Given the description of an element on the screen output the (x, y) to click on. 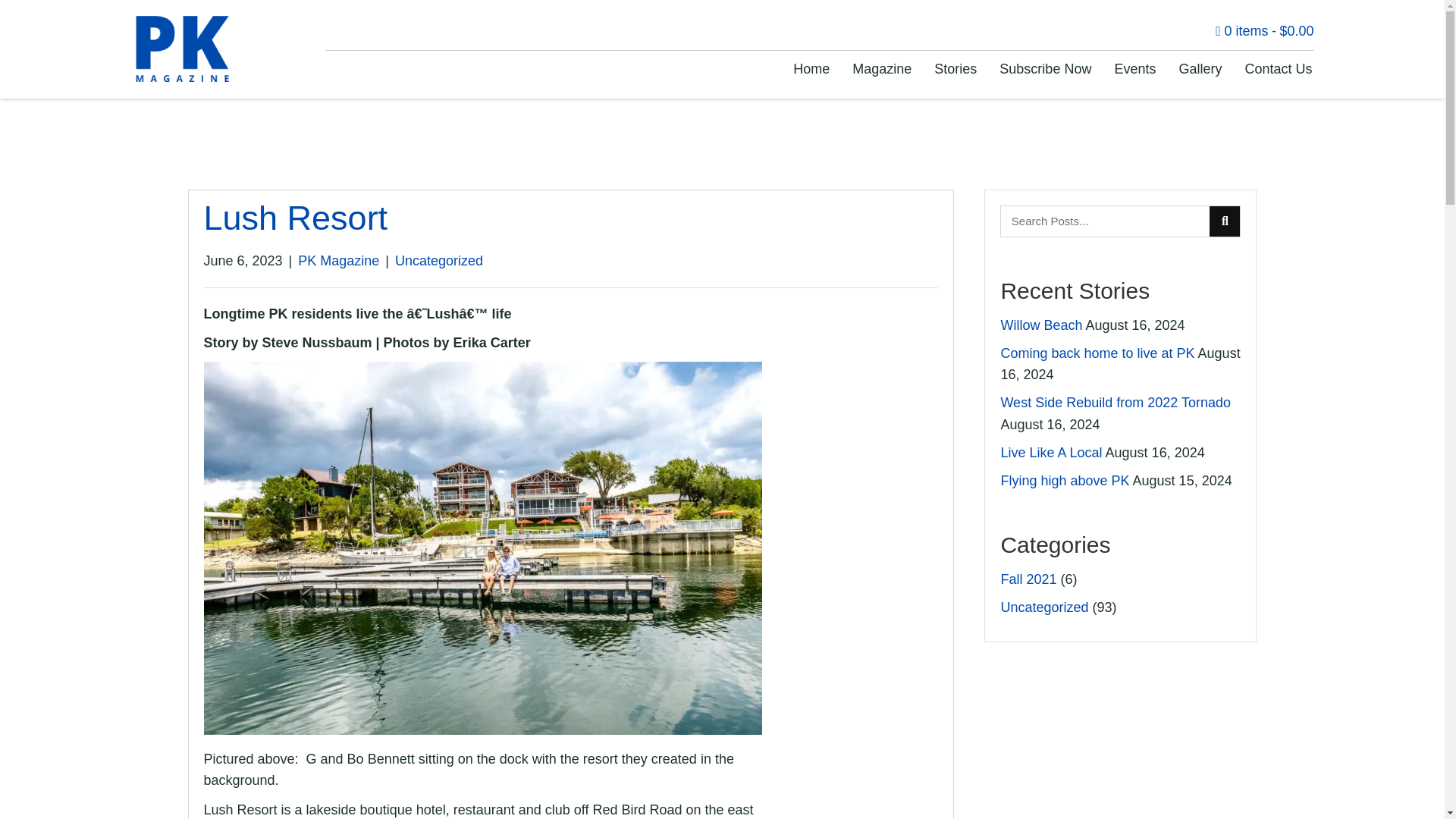
Magazine (881, 68)
PK Magazine (338, 260)
Search (1105, 221)
Stories (955, 68)
Subscribe Now (1045, 68)
Start shopping (1264, 30)
Home (811, 68)
Blue Logo (181, 48)
Contact Us (1277, 68)
Events (1134, 68)
